Given the description of an element on the screen output the (x, y) to click on. 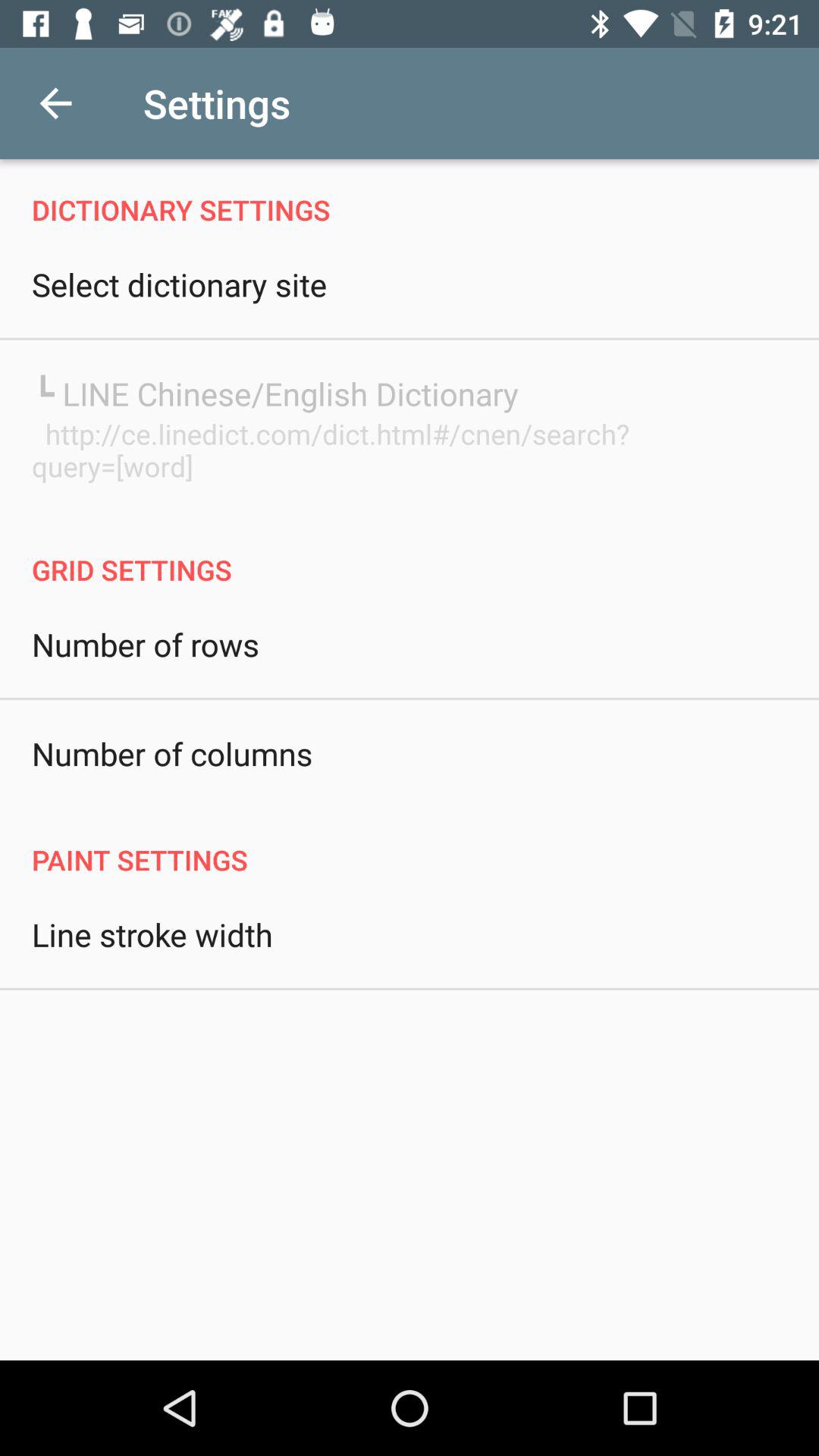
flip until the dictionary settings item (409, 193)
